Given the description of an element on the screen output the (x, y) to click on. 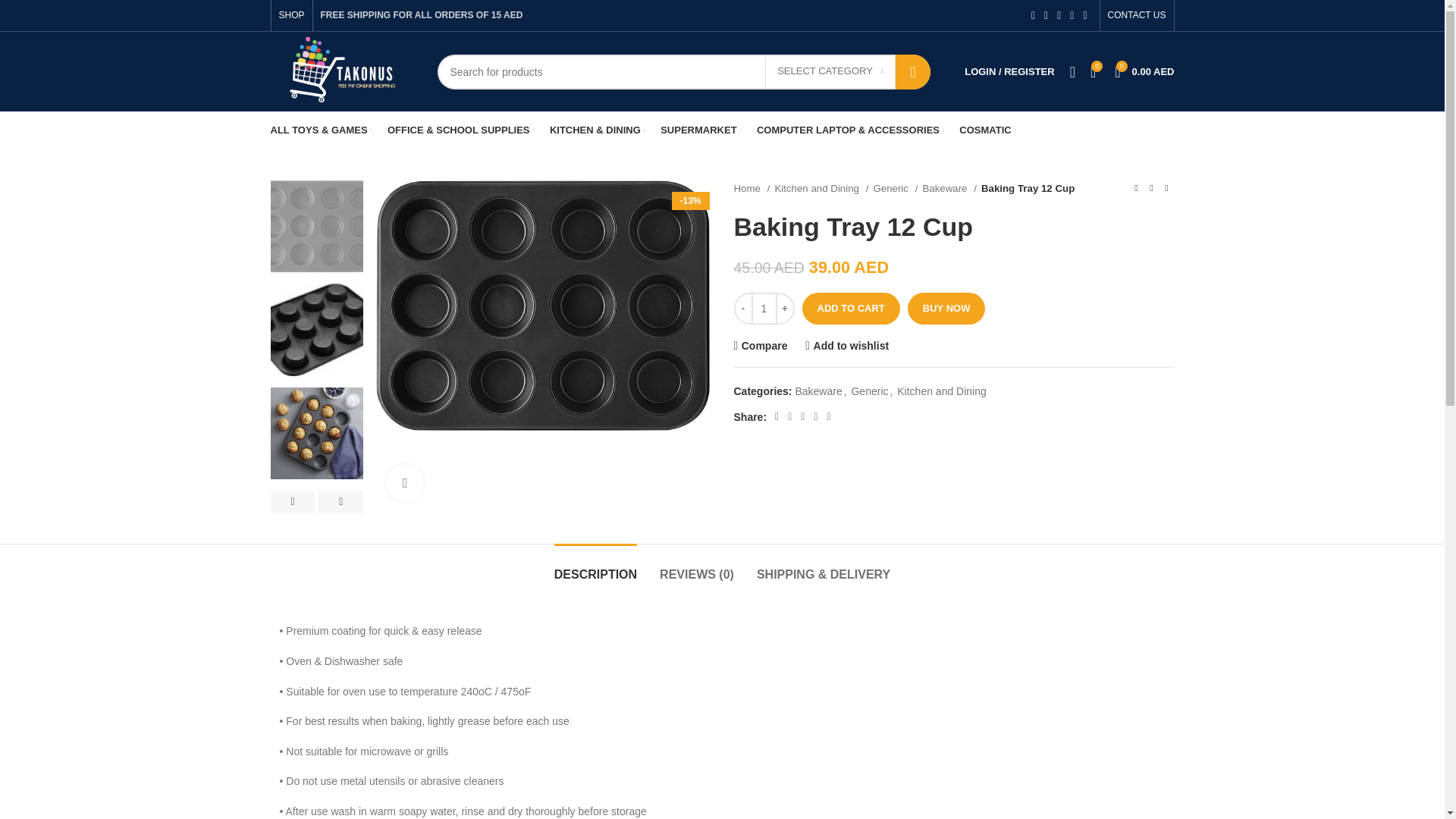
Shopping cart (1143, 71)
SELECT CATEGORY (830, 71)
SELECT CATEGORY (830, 71)
My account (1008, 71)
CONTACT US (1137, 15)
Search for products (683, 71)
